Given the description of an element on the screen output the (x, y) to click on. 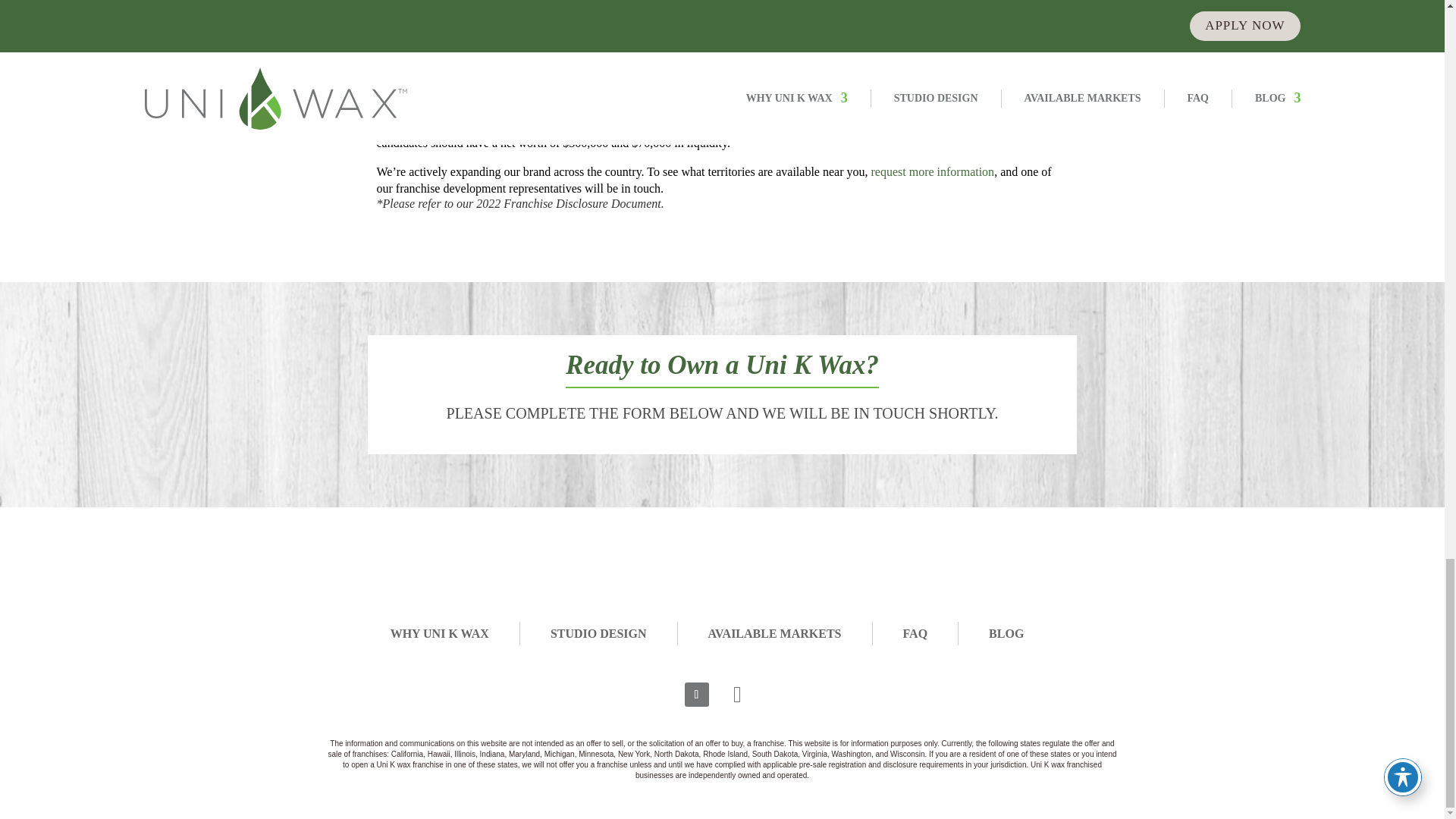
Follow on Instagram (737, 694)
AVAILABLE MARKETS (774, 633)
Follow on Facebook (695, 694)
STUDIO DESIGN (598, 633)
FAQ (914, 633)
WHY UNI K WAX (439, 633)
BLOG (1005, 633)
request more information (932, 171)
